Given the description of an element on the screen output the (x, y) to click on. 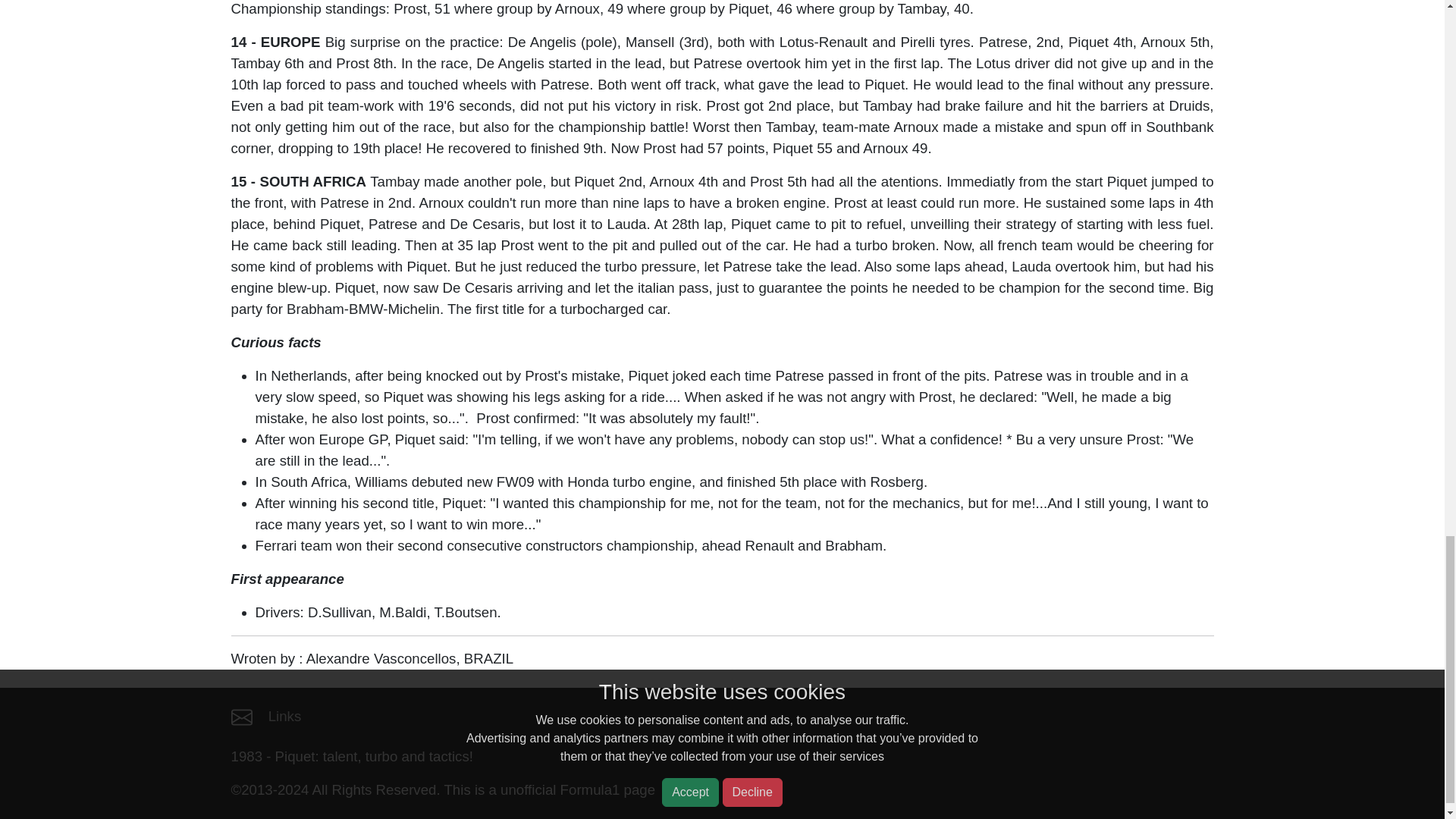
email (240, 717)
Links (284, 715)
